Given the description of an element on the screen output the (x, y) to click on. 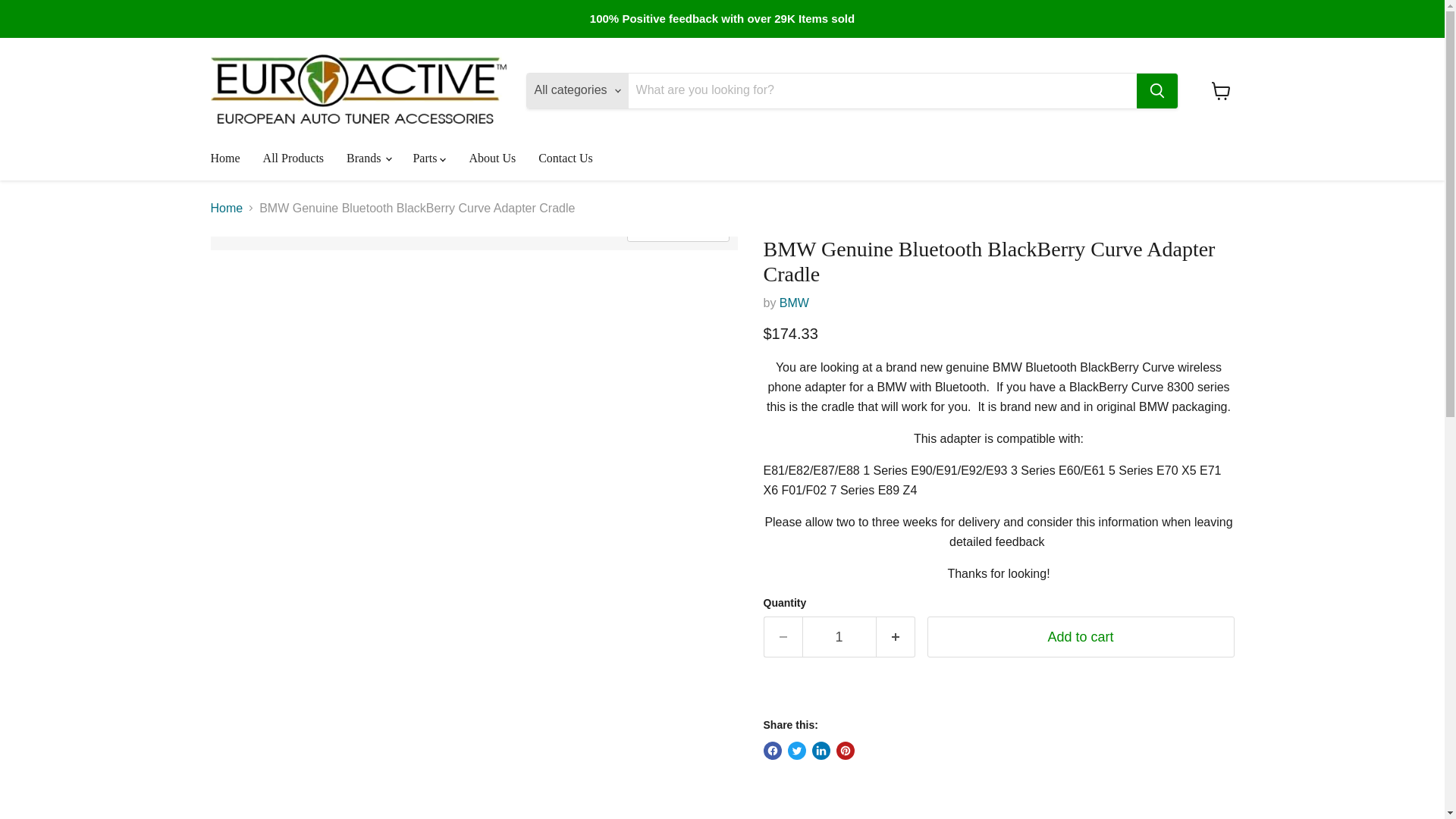
Home (224, 158)
View cart (1221, 90)
1 (839, 637)
All Products (292, 158)
BMW (793, 302)
